Given the description of an element on the screen output the (x, y) to click on. 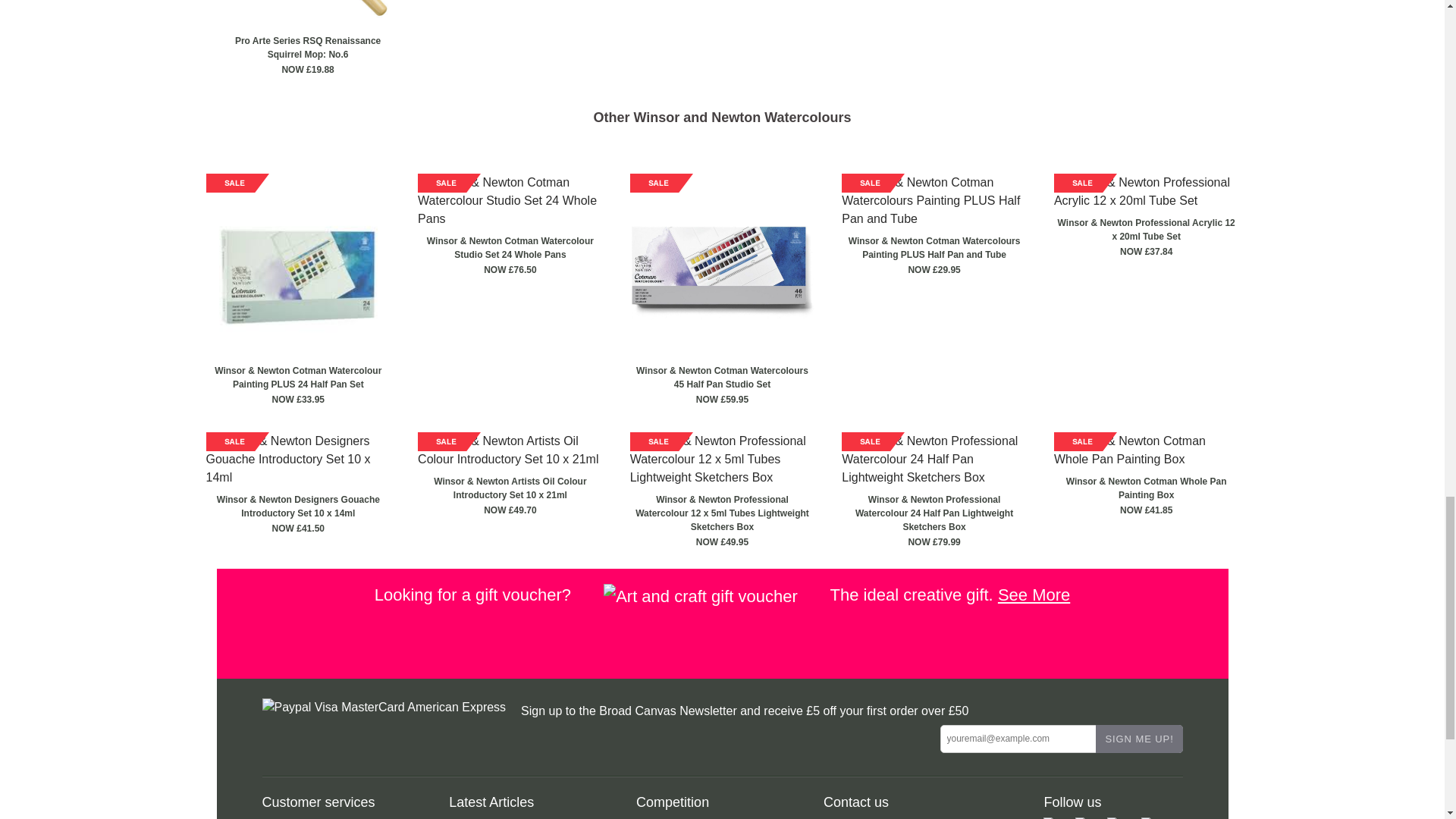
Sign Me Up! (1138, 738)
Pro Arte Series RSQ Renaissance Squirrel Mop: No.6 (307, 13)
